Given the description of an element on the screen output the (x, y) to click on. 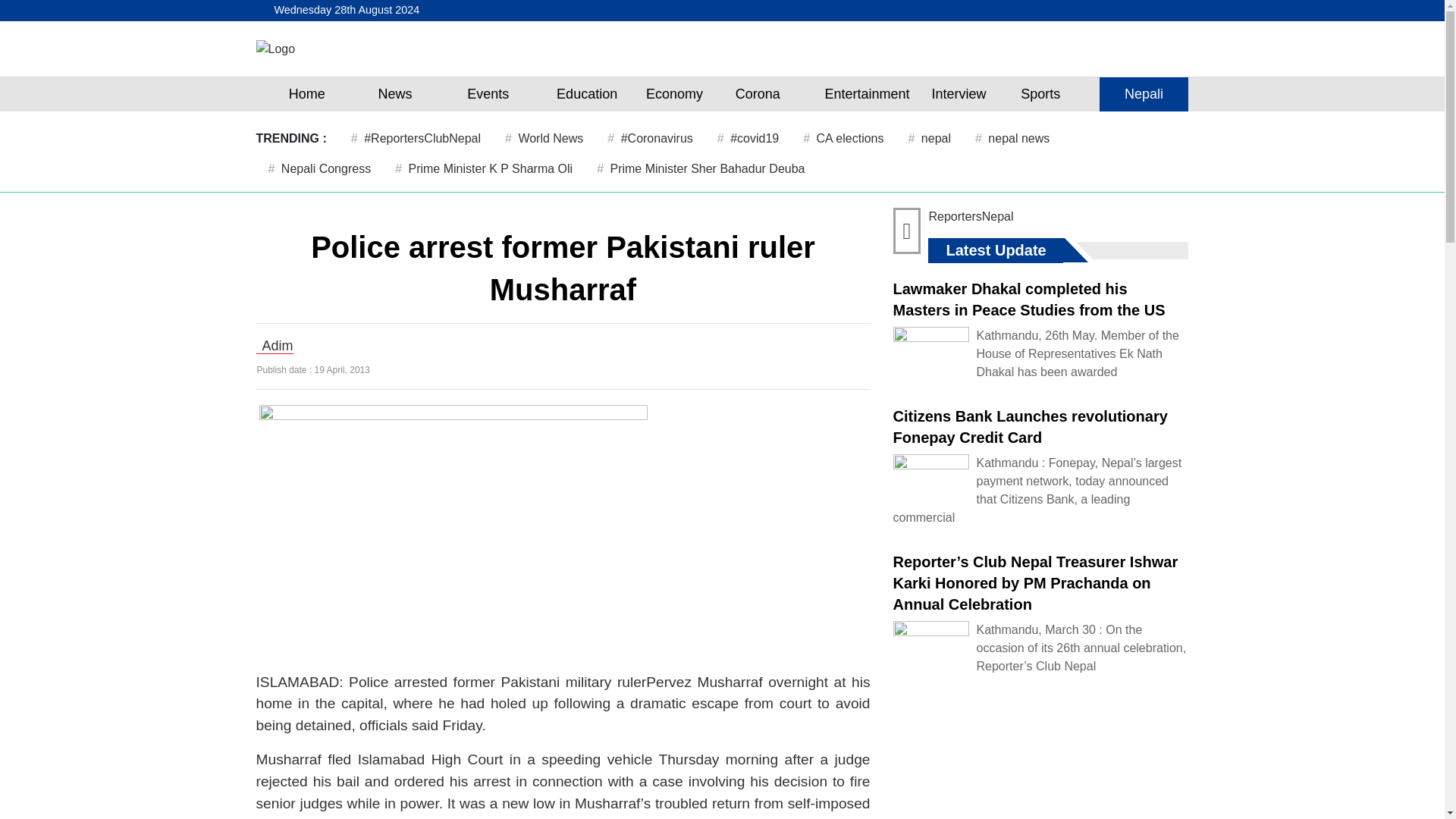
Nepali (1144, 93)
Corona (756, 93)
Interview (958, 93)
Home (307, 93)
Entertainment (866, 93)
Posts by Adim (278, 345)
News (394, 93)
Wednesday 28th August 2024 (344, 10)
Sports (1040, 93)
Economy (674, 93)
